Given the description of an element on the screen output the (x, y) to click on. 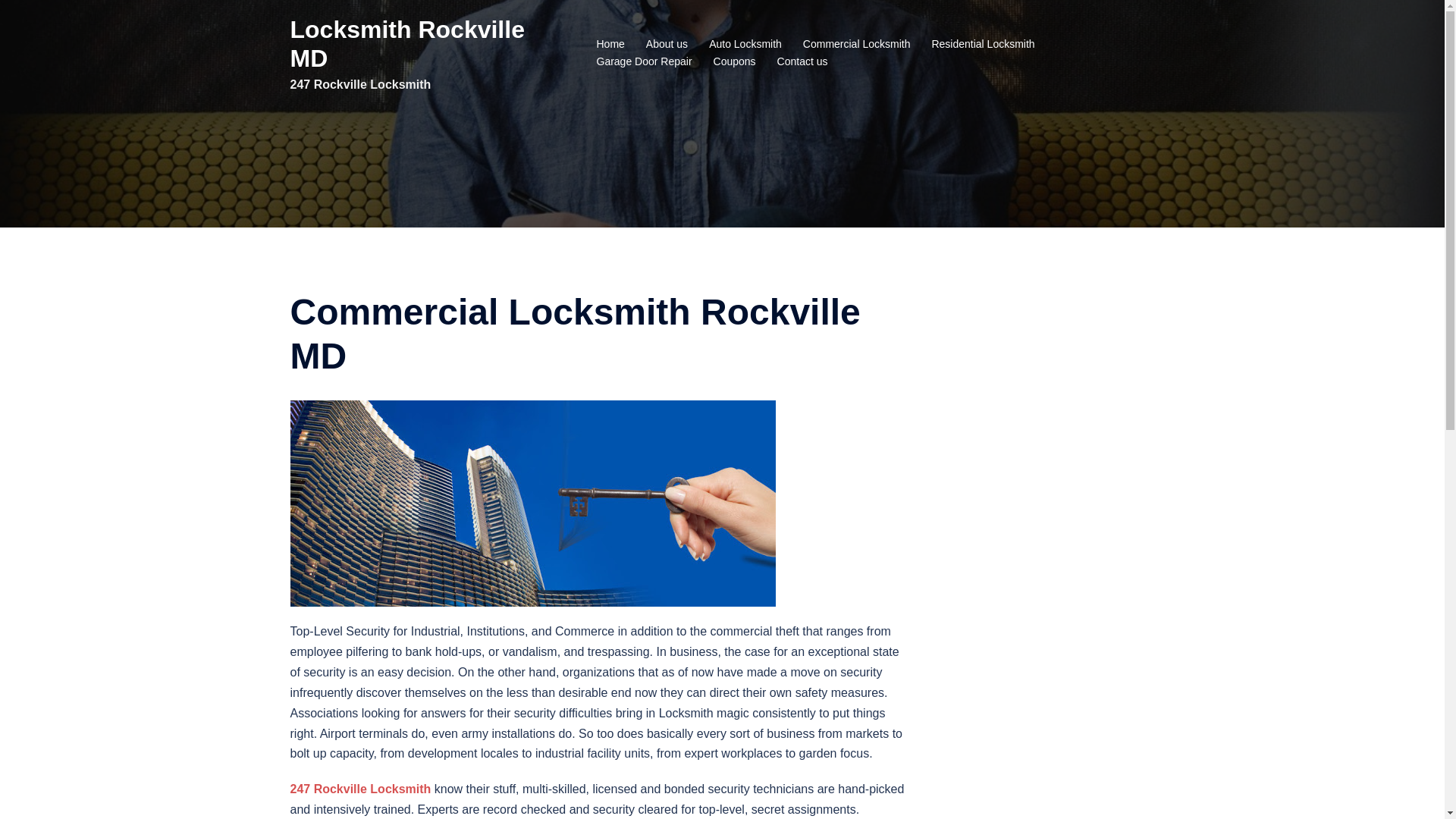
Auto Locksmith Element type: text (745, 44)
Commercial Locksmith Element type: text (856, 44)
Garage Door Repair Element type: text (643, 62)
About us Element type: text (666, 44)
Locksmith Rockville MD Element type: text (406, 43)
247 Rockville Locksmith Element type: text (359, 788)
Contact us Element type: text (802, 62)
Home Element type: text (610, 44)
Coupons Element type: text (734, 62)
Residential Locksmith Element type: text (982, 44)
Commercial Locksmith Rockville Element type: hover (532, 503)
